Given the description of an element on the screen output the (x, y) to click on. 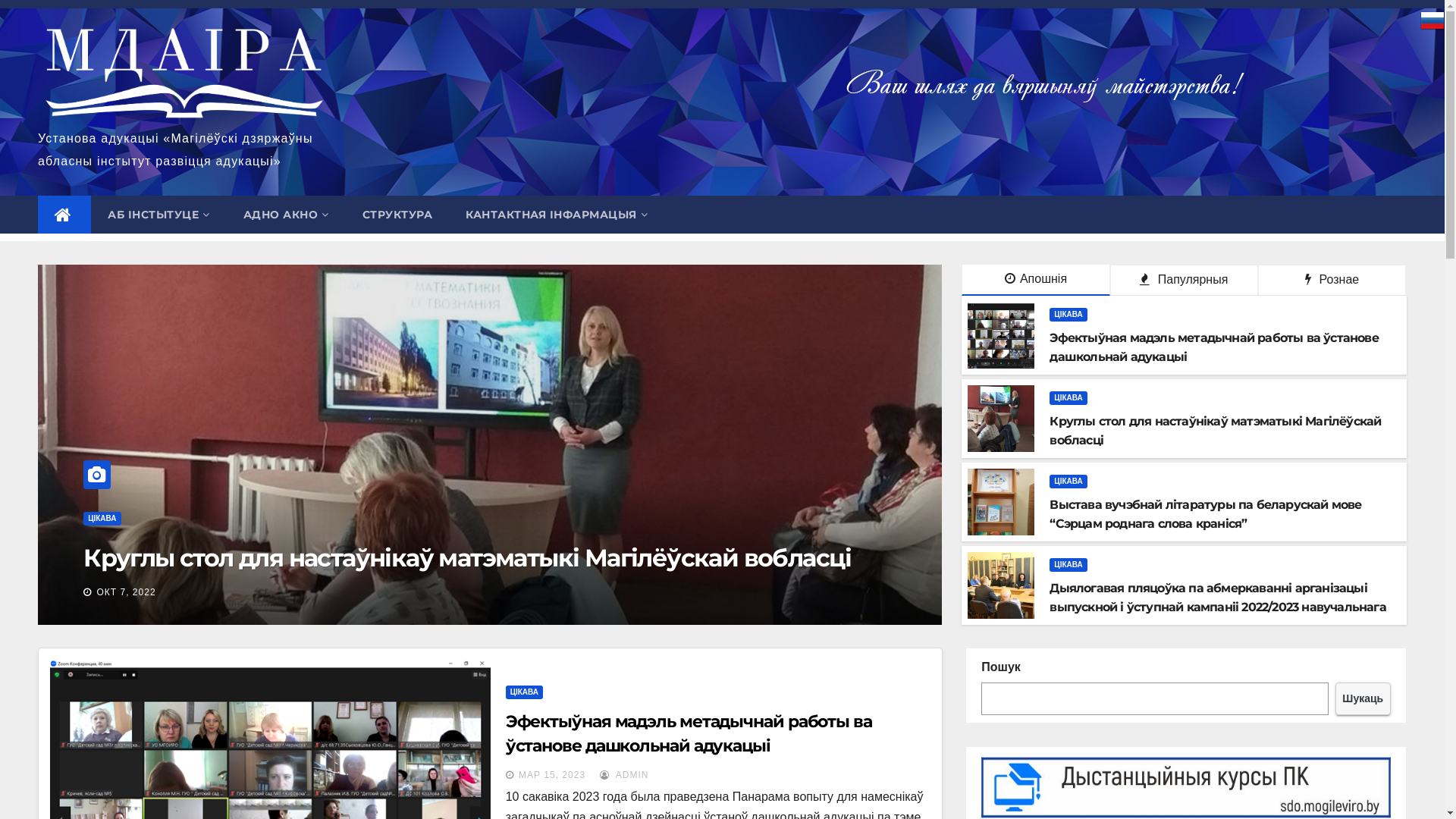
Home Element type: hover (64, 214)
ADMIN Element type: text (624, 774)
